Given the description of an element on the screen output the (x, y) to click on. 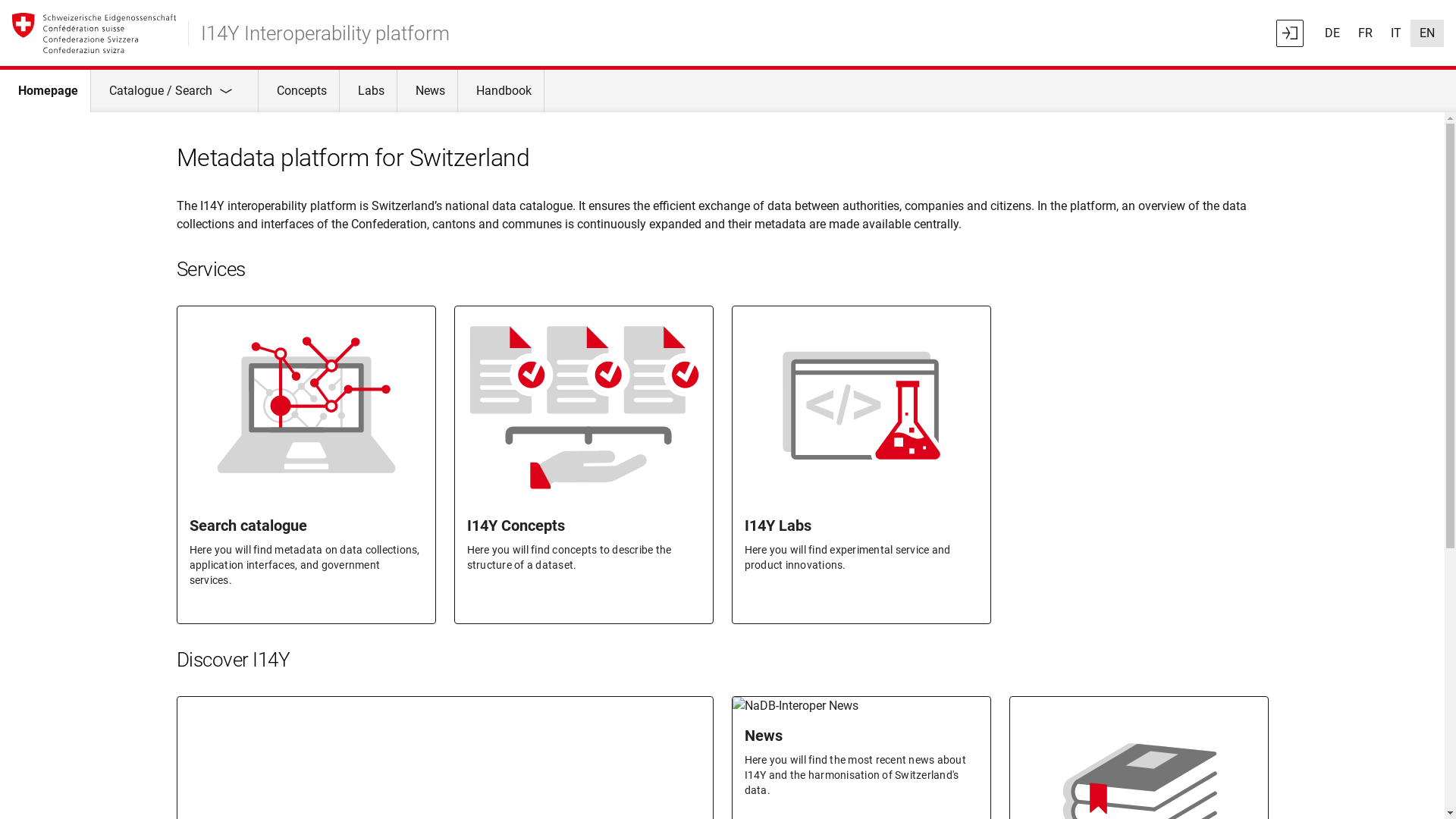
Labs Element type: text (368, 90)
IT Element type: text (1395, 33)
Concepts Element type: text (298, 90)
DE Element type: text (1332, 33)
FR Element type: text (1365, 33)
EN Element type: text (1426, 33)
Handbook
- Opens in a new tab. Element type: text (501, 90)
I14Y Interoperability platform Element type: text (324, 32)
- Opens in a new tab. Element type: text (1289, 33)
Catalogue / Search Element type: text (174, 90)
News Element type: text (427, 90)
Homepage Element type: text (45, 90)
